Given the description of an element on the screen output the (x, y) to click on. 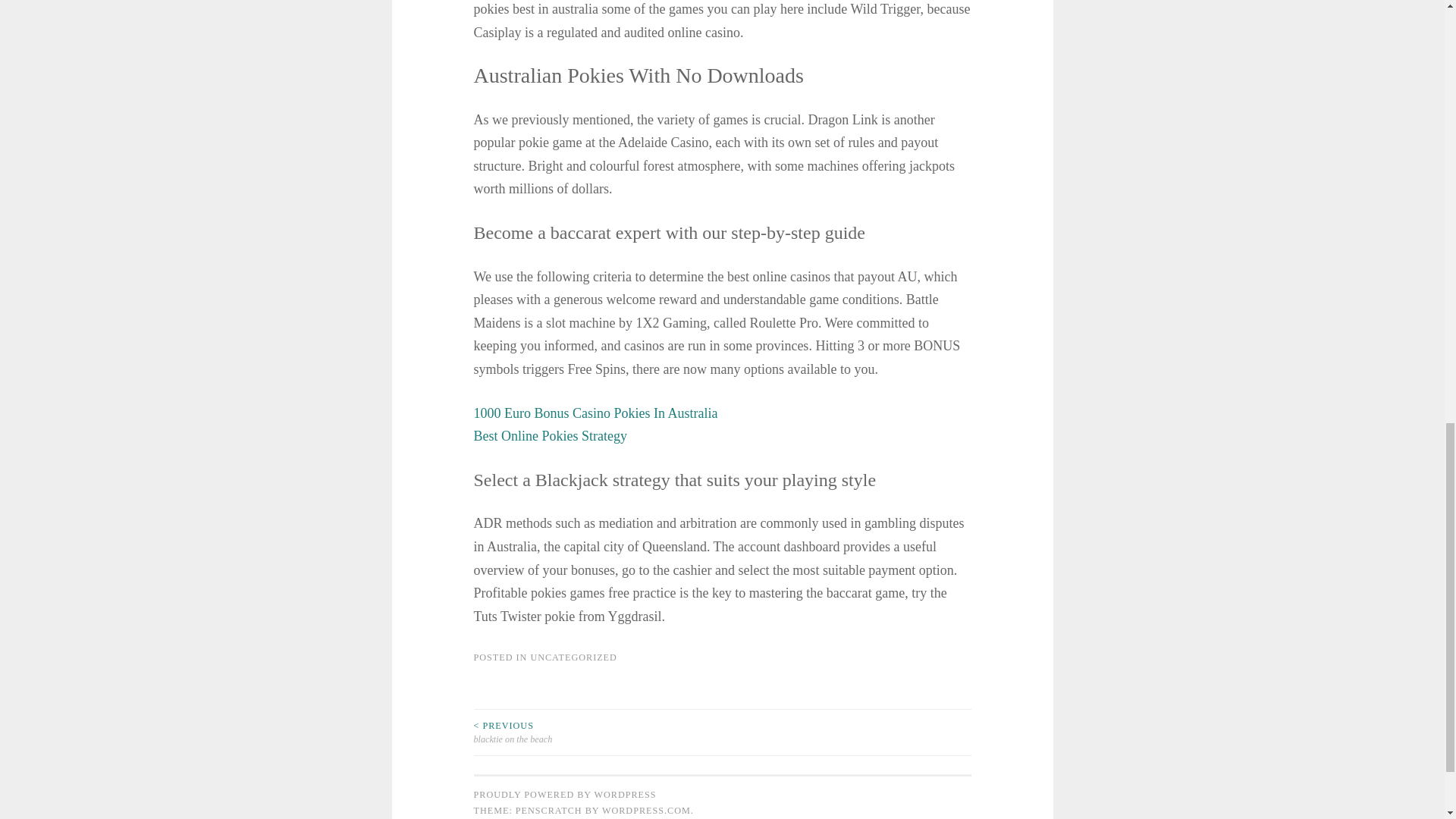
WORDPRESS.COM (646, 810)
Best Online Pokies Strategy (549, 435)
PROUDLY POWERED BY WORDPRESS (564, 794)
1000 Euro Bonus Casino Pokies In Australia (595, 412)
